Given the description of an element on the screen output the (x, y) to click on. 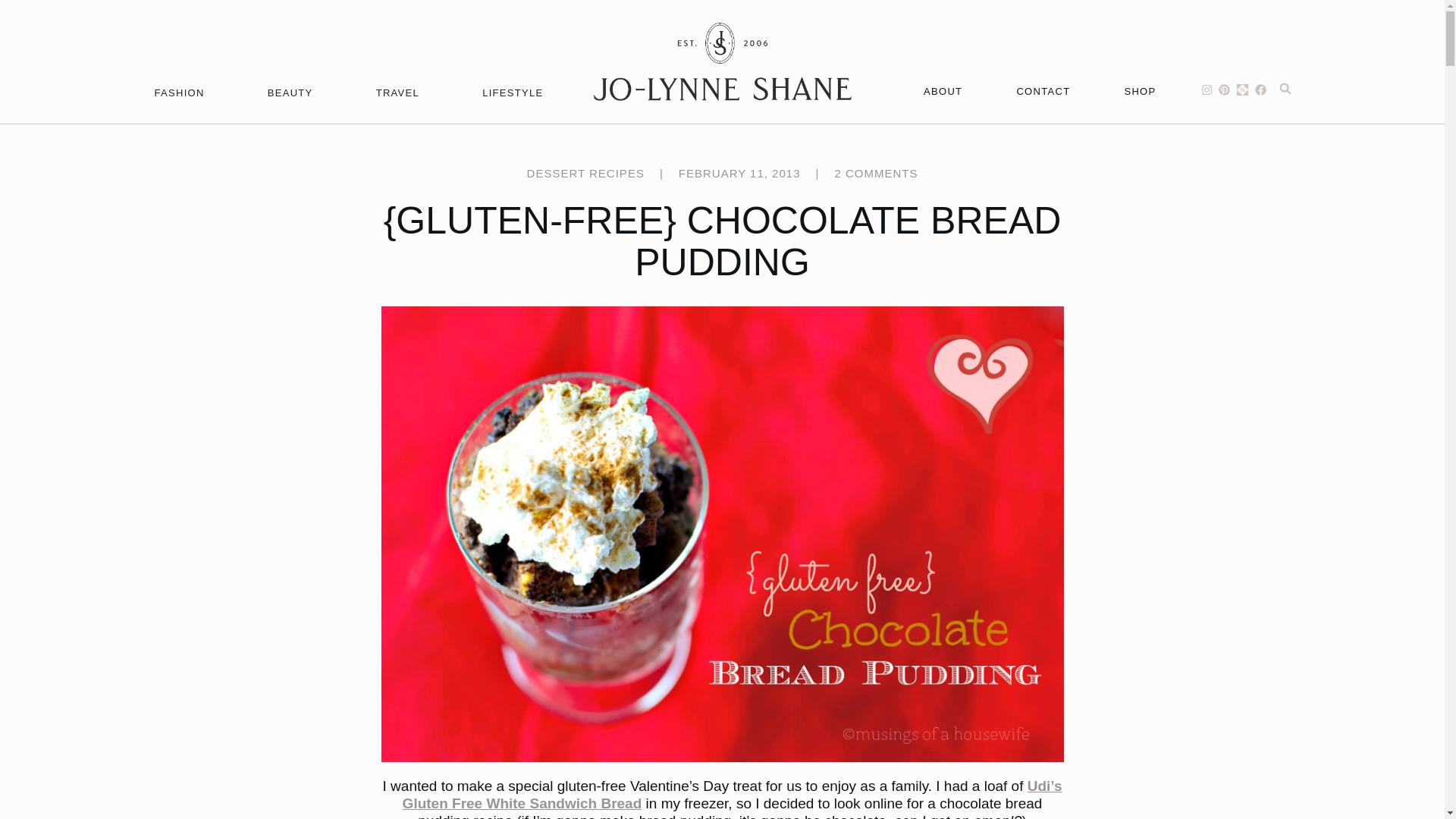
BEAUTY (290, 92)
FASHION (179, 92)
